Given the description of an element on the screen output the (x, y) to click on. 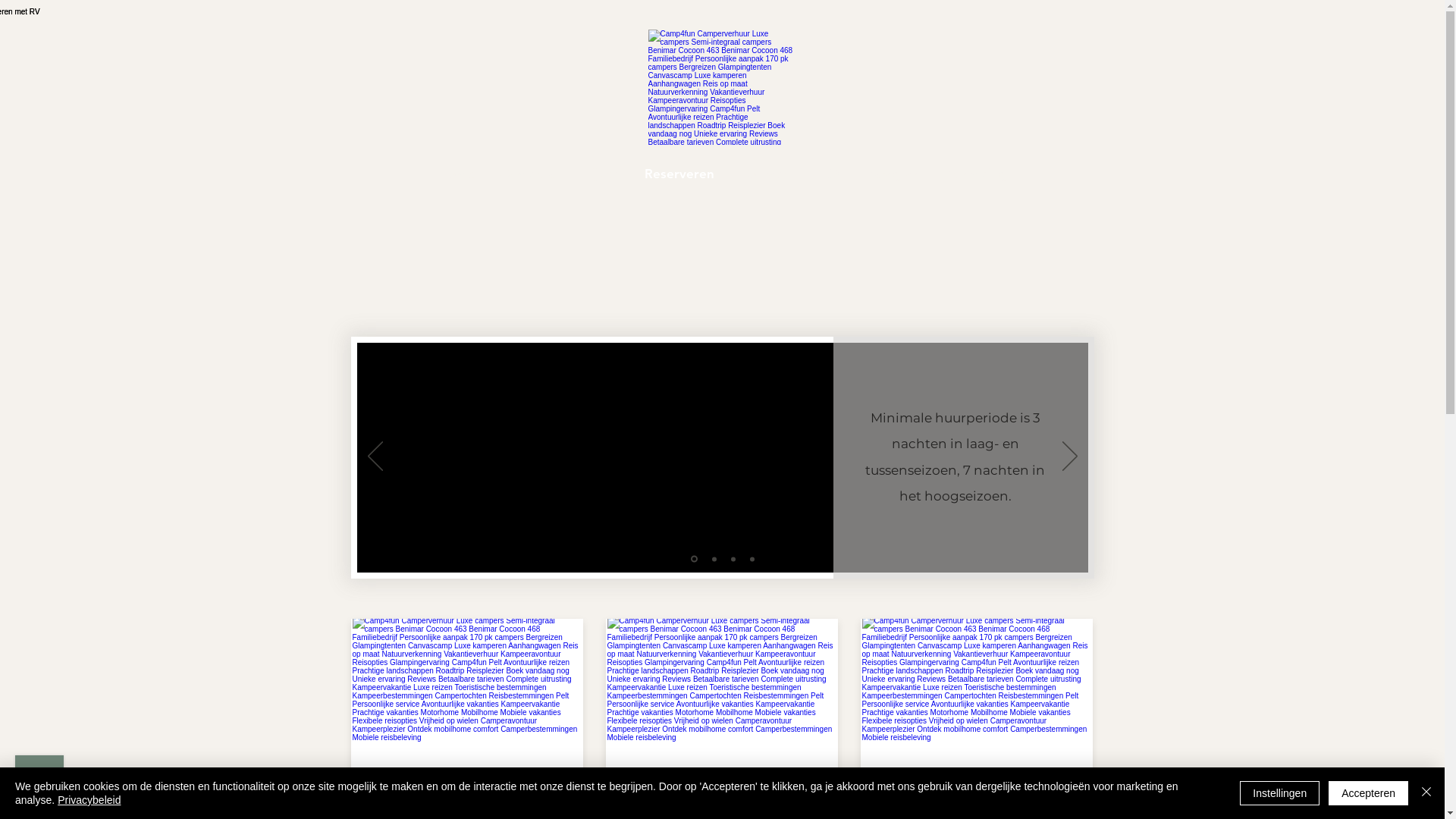
FAQ Element type: text (824, 173)
Instellingen Element type: text (1279, 793)
Contact Element type: text (762, 173)
Glamping Element type: text (976, 173)
Instagram Element type: text (893, 173)
Prijzen Element type: text (599, 173)
Home Element type: text (456, 173)
Campers Element type: text (526, 173)
Reserveren Element type: text (679, 173)
Accepteren Element type: text (1368, 793)
Camp4fun Element type: hover (721, 86)
Privacybeleid Element type: text (88, 799)
